Given the description of an element on the screen output the (x, y) to click on. 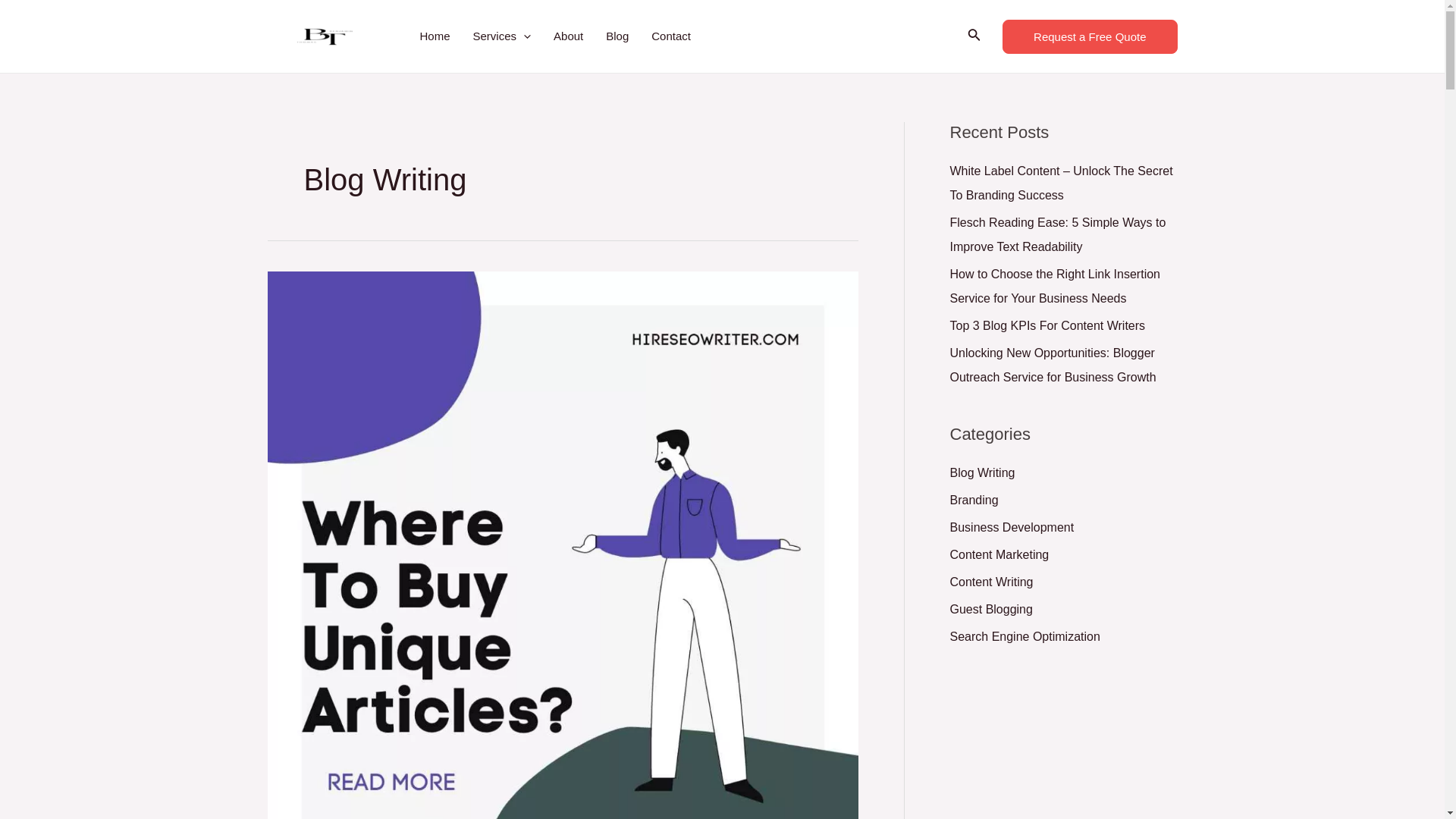
Services (502, 36)
About (567, 36)
Request a Free Quote (1089, 36)
Search (974, 35)
Contact (670, 36)
Blog (617, 36)
Home (434, 36)
